Given the description of an element on the screen output the (x, y) to click on. 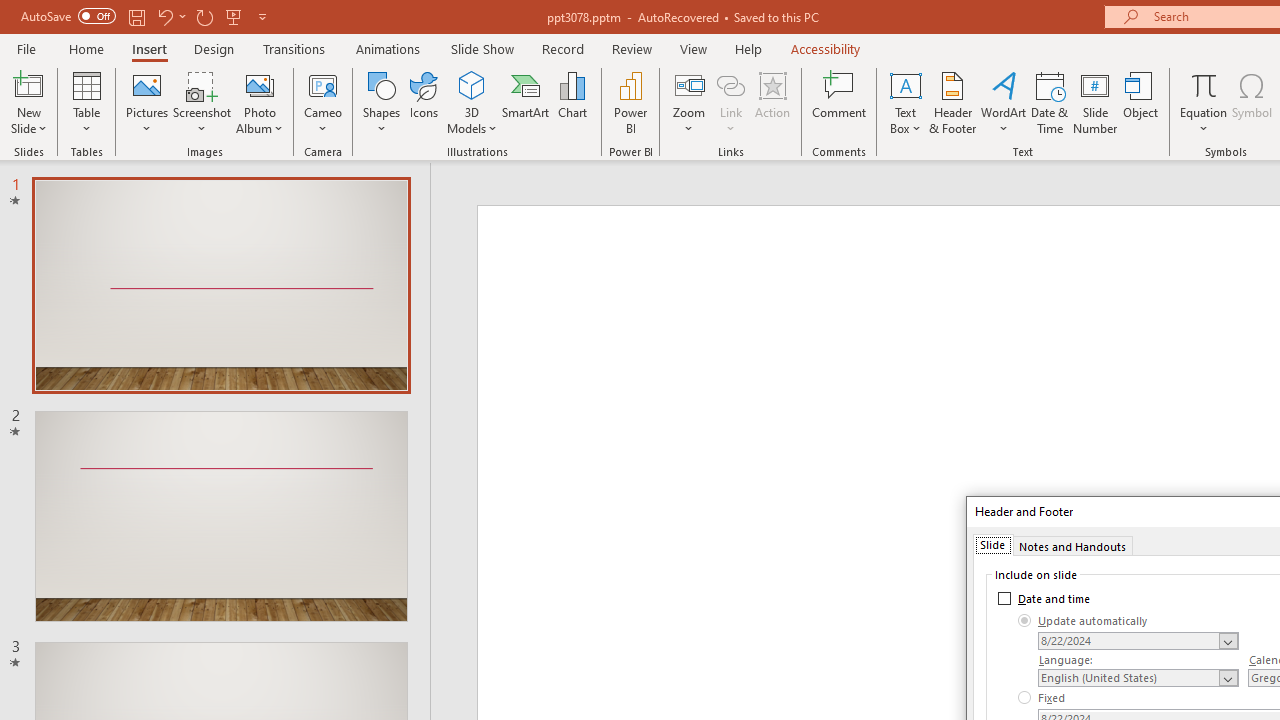
Notes and Handouts (1072, 544)
Power BI (630, 102)
Equation (1203, 84)
Icons (424, 102)
3D Models (472, 102)
Slide Number (1095, 102)
Object... (1141, 102)
Comment (839, 102)
